Given the description of an element on the screen output the (x, y) to click on. 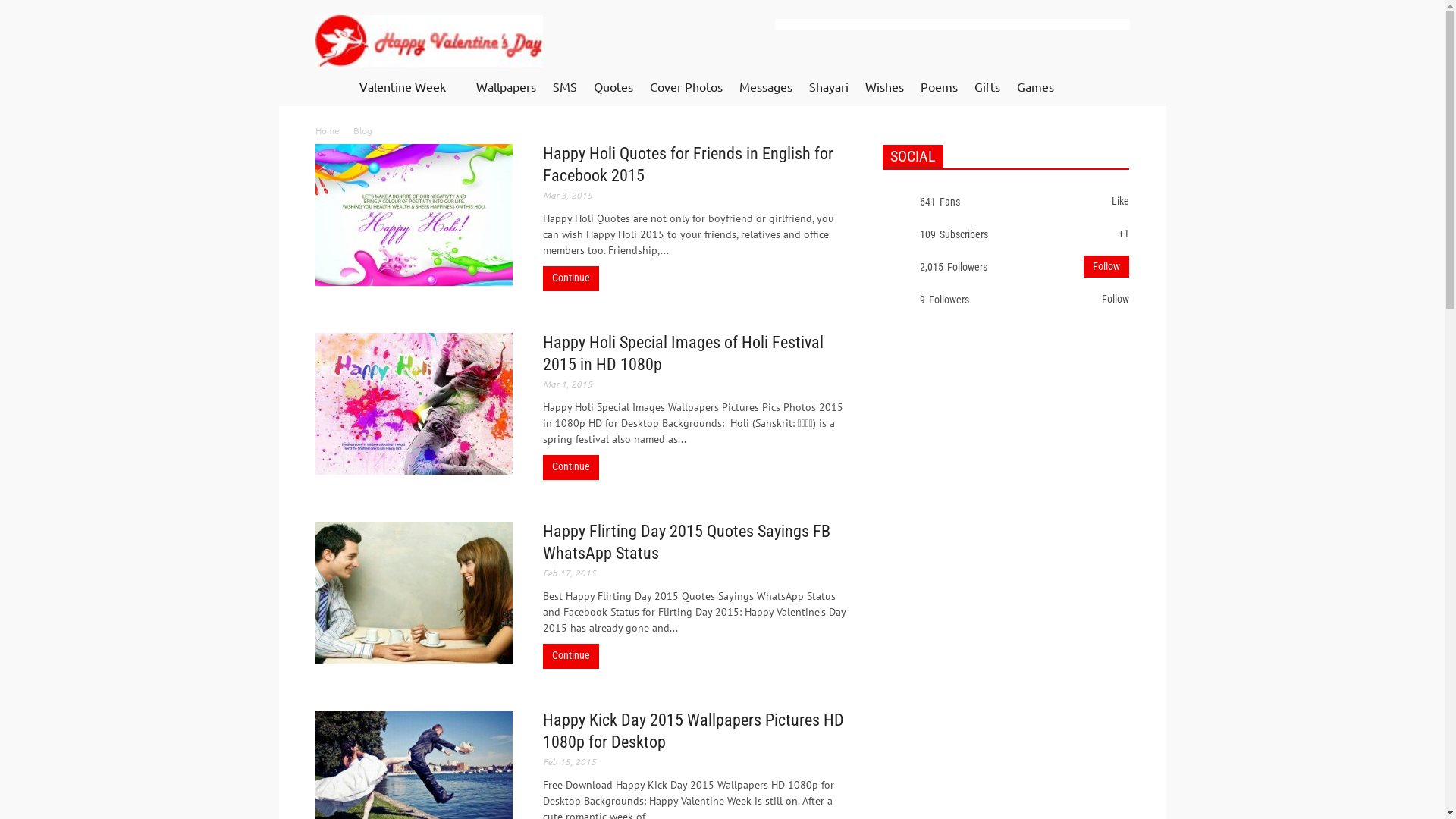
Wallpapers Element type: text (505, 86)
Home Element type: text (327, 130)
Games Element type: text (1035, 86)
Happy Holi Special Images of Holi Festival 2015 in HD 1080p Element type: text (682, 352)
Happy Flirting Day 2015 Quotes Sayings FB WhatsApp Status Element type: hover (413, 592)
Continue Element type: text (570, 466)
Continue Element type: text (570, 277)
Happy Holi Special Images of Holi Festival 2015 in HD 1080p Element type: hover (413, 403)
Shayari Element type: text (828, 86)
Follow Element type: text (1106, 266)
Gifts Element type: text (987, 86)
Advertisement Element type: hover (952, 24)
Advertisement Element type: hover (996, 576)
Continue Element type: text (570, 655)
Messages Element type: text (765, 86)
Quotes Element type: text (613, 86)
Poems Element type: text (938, 86)
Happy Holi Quotes for Friends in English for Facebook 2015 Element type: hover (413, 214)
Cover Photos Element type: text (686, 86)
Wishes Element type: text (884, 86)
SMS Element type: text (564, 86)
Happy Holi Quotes for Friends in English for Facebook 2015 Element type: text (687, 164)
Happy Kick Day 2015 Wallpapers Pictures HD 1080p for Desktop Element type: text (693, 730)
Happy Flirting Day 2015 Quotes Sayings FB WhatsApp Status Element type: text (686, 541)
